Given the description of an element on the screen output the (x, y) to click on. 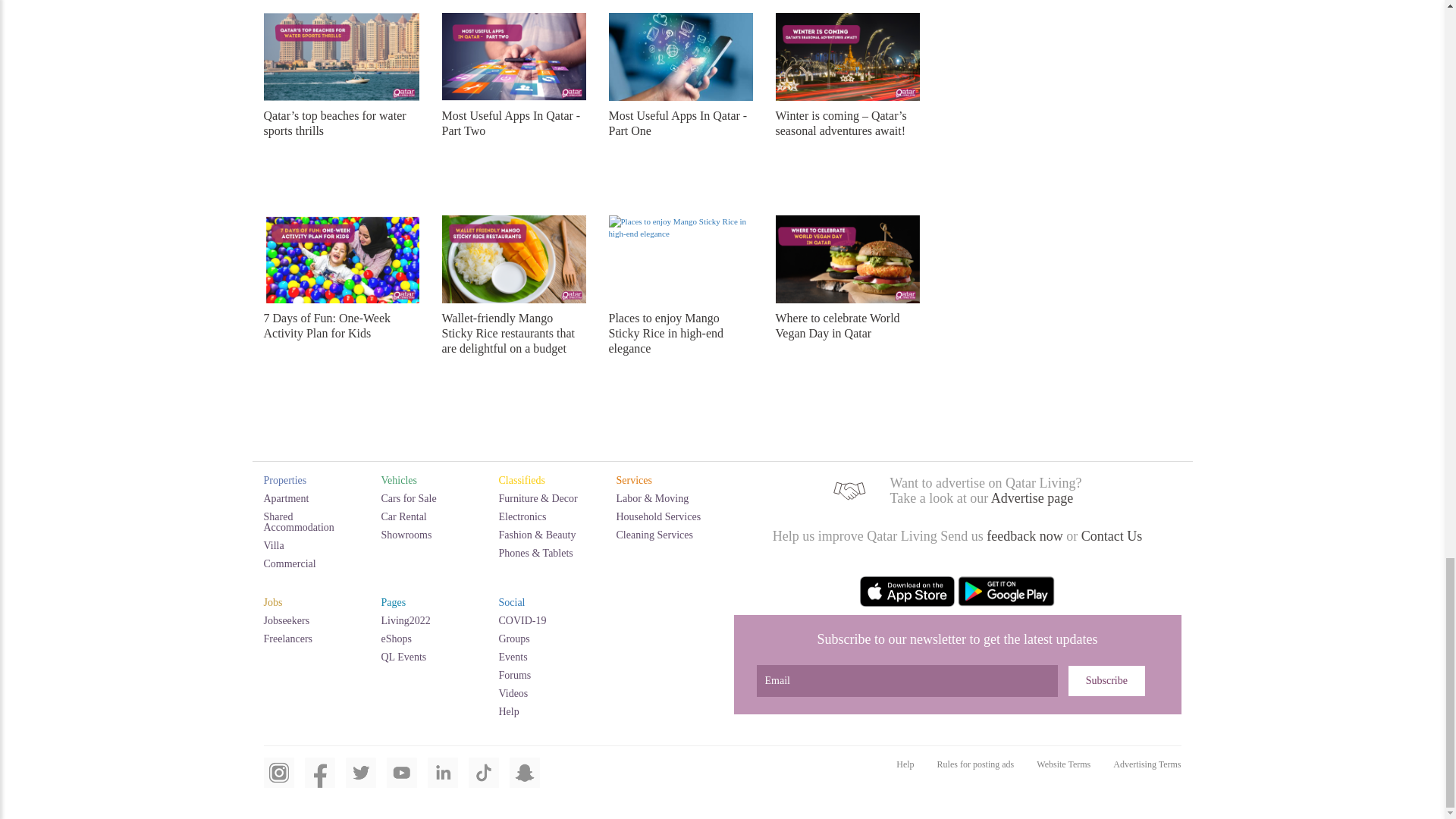
YOUTUBE (401, 780)
LINKEDIN (443, 780)
TWITTER (360, 780)
Subscribe (1106, 680)
TIKTOK (483, 780)
INSTAGRAM (278, 780)
SNAPCHAT (524, 780)
FACEBOOK (319, 780)
